Given the description of an element on the screen output the (x, y) to click on. 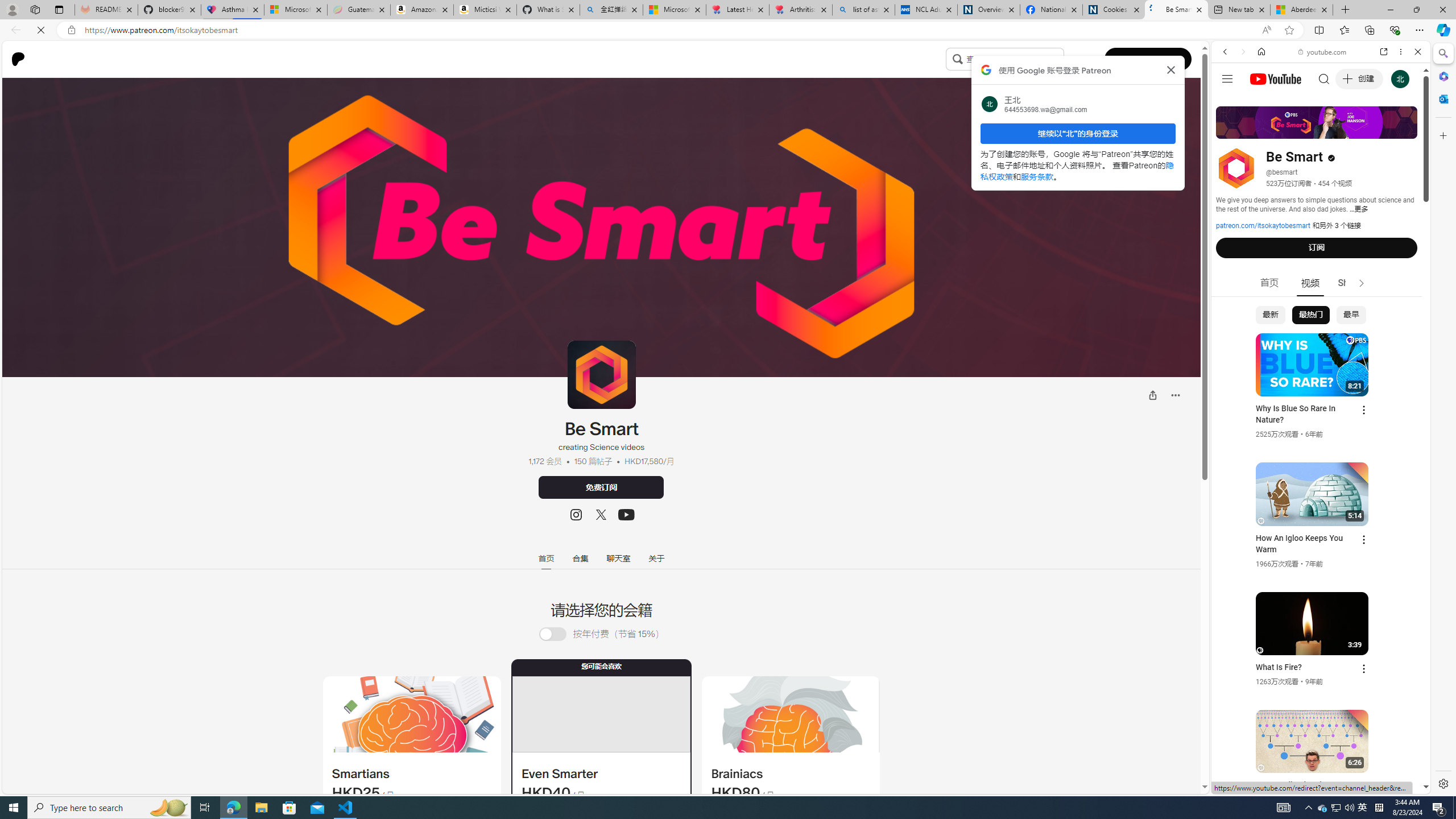
Shorts (1351, 283)
